Given the description of an element on the screen output the (x, y) to click on. 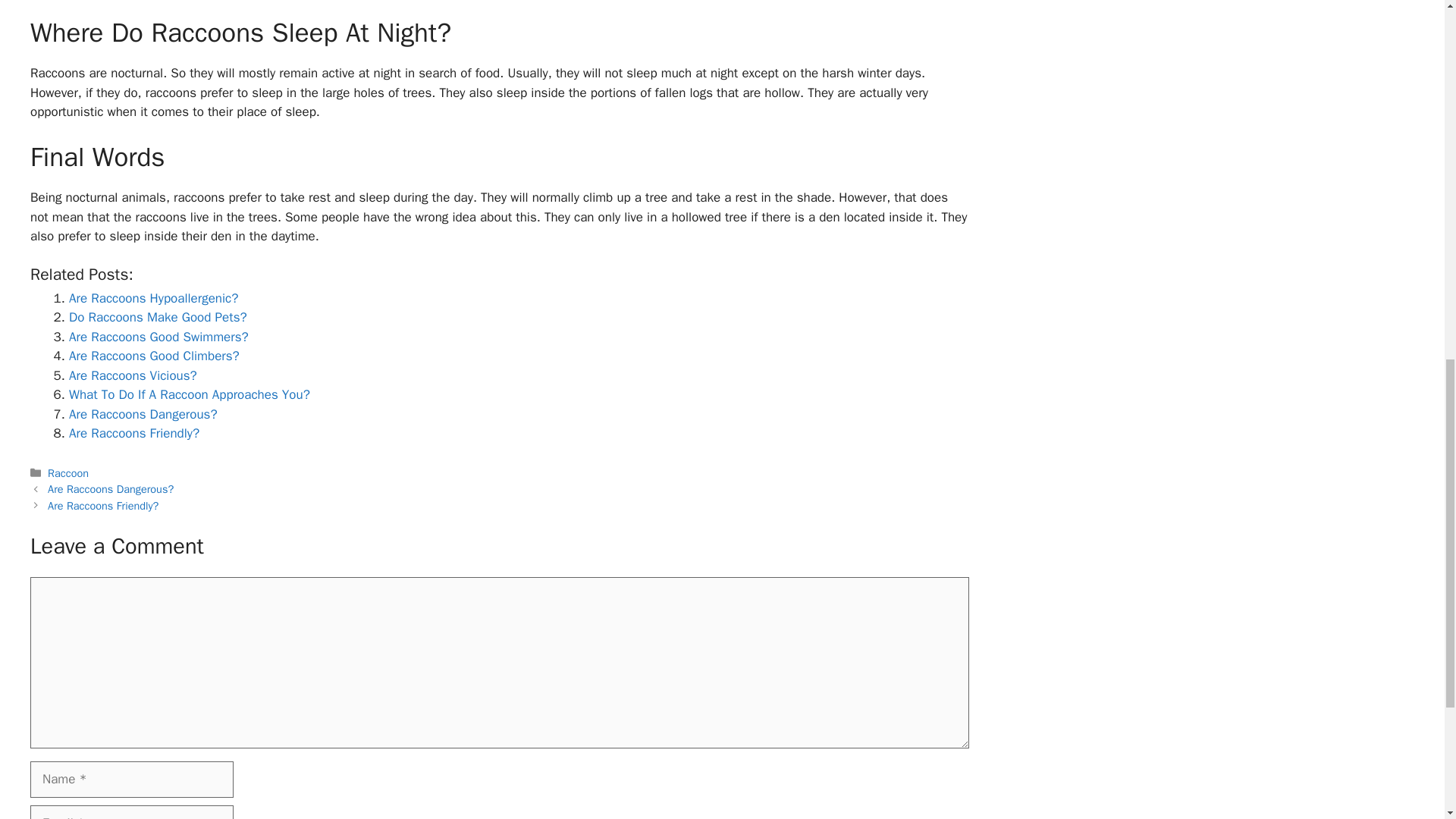
Are Raccoons Good Climbers? (154, 355)
Are Raccoons Good Climbers? (154, 355)
Are Raccoons Vicious? (132, 375)
Are Raccoons Hypoallergenic? (153, 298)
What To Do If A Raccoon Approaches You? (189, 394)
Are Raccoons Friendly? (103, 505)
Do Raccoons Make Good Pets? (157, 317)
Are Raccoons Hypoallergenic? (153, 298)
Are Raccoons Dangerous? (110, 489)
Are Raccoons Friendly? (133, 433)
